Given the description of an element on the screen output the (x, y) to click on. 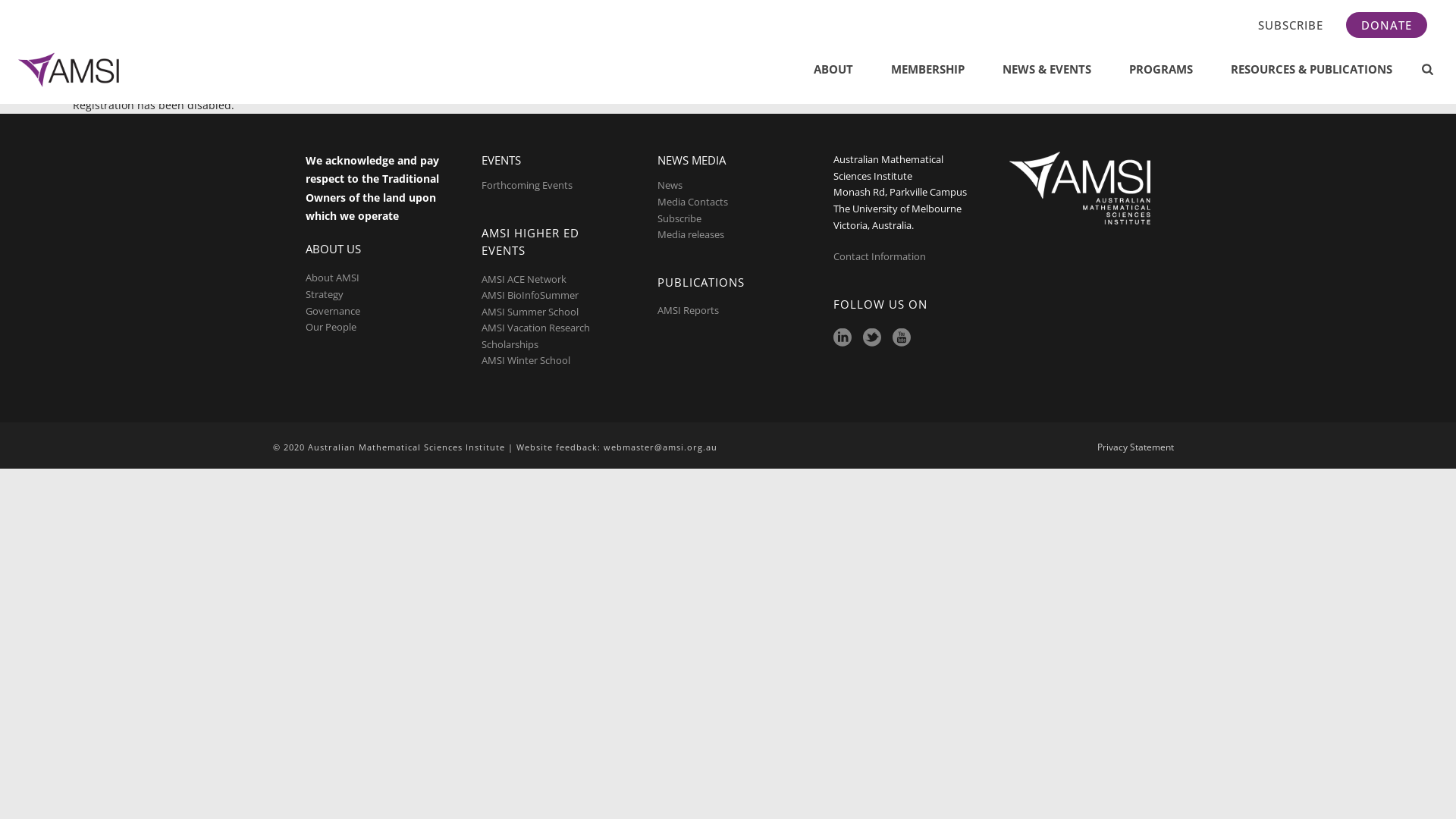
About AMSI Element type: text (332, 277)
Follow Us on twitter Element type: hover (871, 338)
PROGRAMS Element type: text (1160, 69)
Governance Element type: text (332, 310)
Media Contacts Element type: text (692, 201)
News Element type: text (669, 184)
Follow Us on linkedin Element type: hover (842, 338)
ABOUT Element type: text (833, 69)
RESOURCES & PUBLICATIONS Element type: text (1311, 69)
Strategy Element type: text (324, 294)
NEWS & EVENTS Element type: text (1046, 69)
Contact Information  Element type: text (880, 256)
Australian Mathematical Sciences Institute Element type: hover (71, 69)
Follow Us on youtube Element type: hover (901, 338)
Our People Element type: text (330, 326)
AMSI ACE Network Element type: text (523, 278)
Privacy Statement Element type: text (1135, 447)
AMSI Reports Element type: text (687, 309)
MEMBERSHIP Element type: text (927, 69)
webmaster@amsi.org.au Element type: text (660, 446)
AMSI Winter School Element type: text (525, 360)
DONATE Element type: text (1386, 24)
Forthcoming Events Element type: text (526, 184)
AMSI BioInfoSummer Element type: text (529, 294)
SUBSCRIBE Element type: text (1290, 24)
AMSI Vacation Research Scholarships Element type: text (535, 335)
Subscribe Element type: text (679, 218)
Media releases Element type: text (690, 234)
AMSI Summer School Element type: text (529, 311)
